Given the description of an element on the screen output the (x, y) to click on. 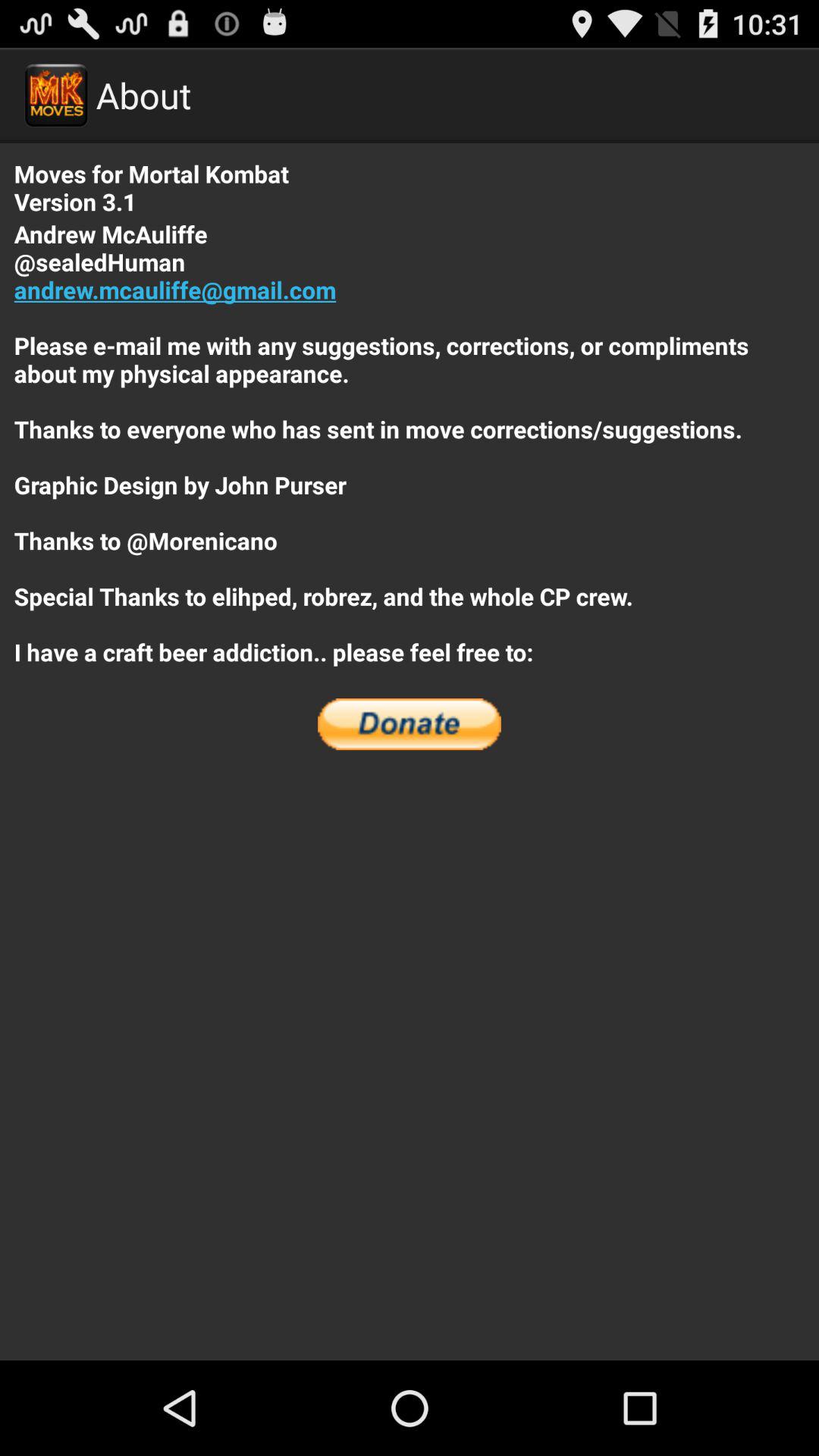
select the app at the top (409, 442)
